Given the description of an element on the screen output the (x, y) to click on. 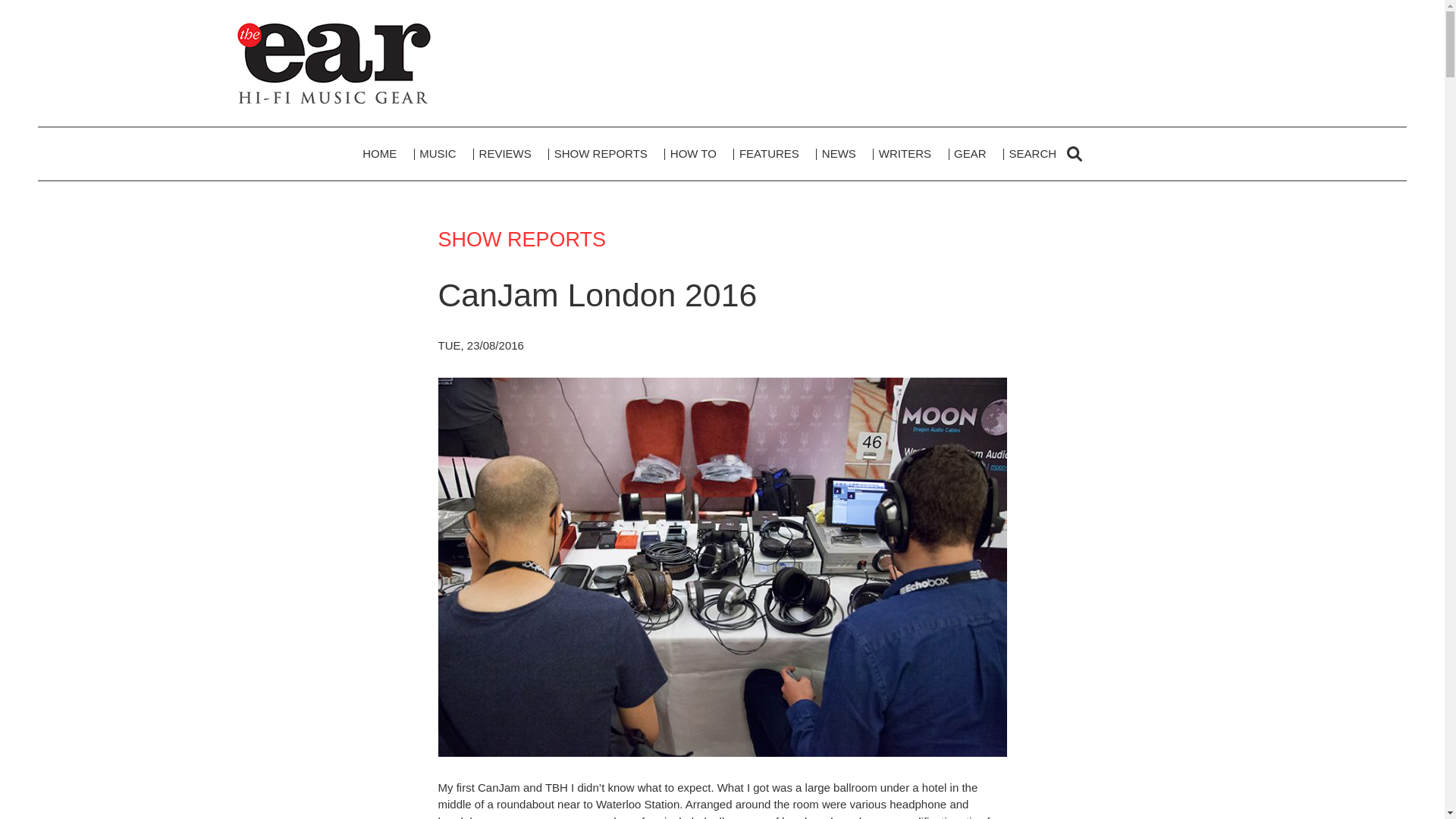
REVIEWS (505, 153)
SHOW REPORTS (600, 153)
WRITERS (905, 153)
FEATURES (769, 153)
SEARCH (1045, 153)
